Given the description of an element on the screen output the (x, y) to click on. 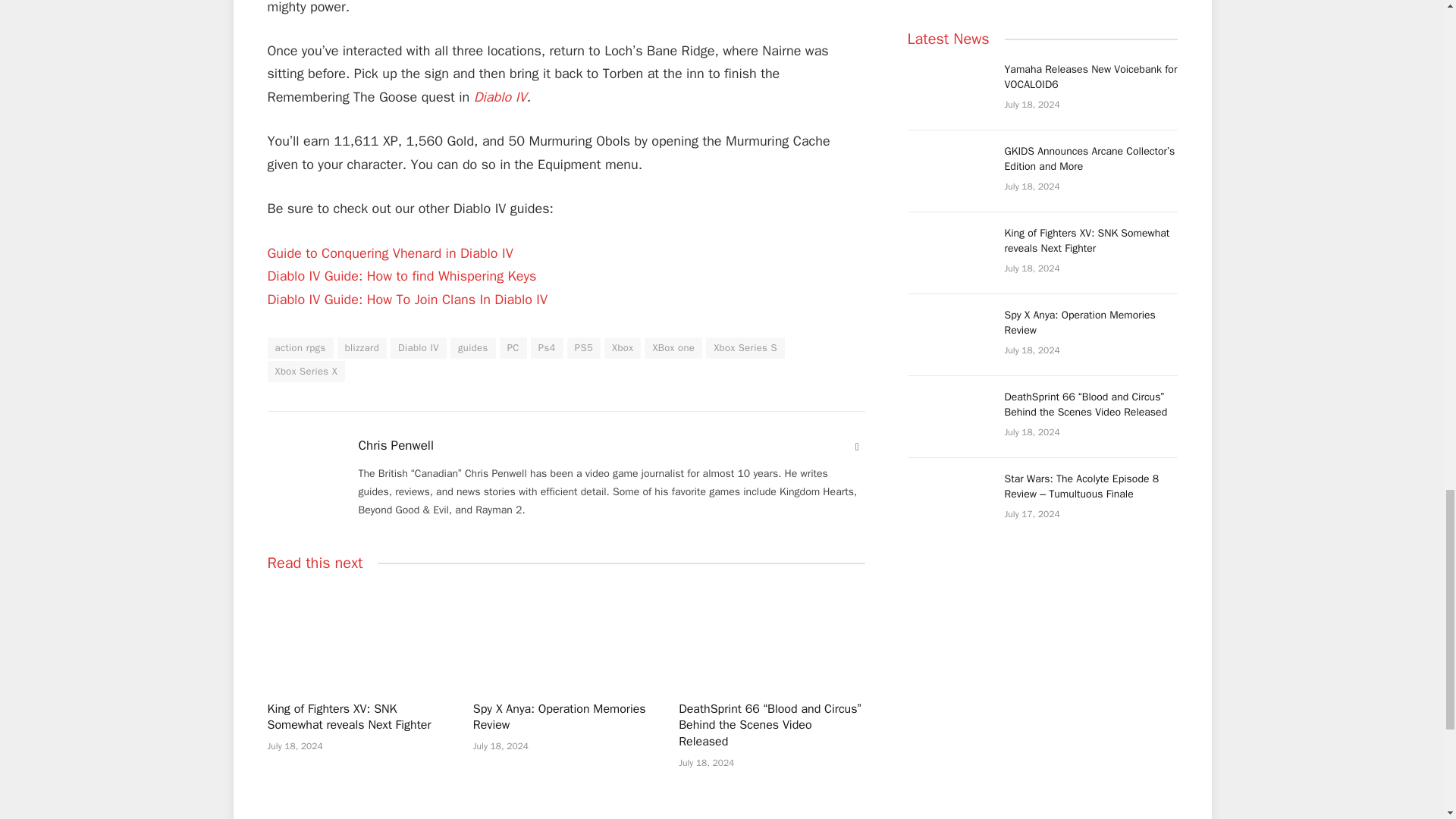
King of Fighters XV: SNK Somewhat reveals Next Fighter (359, 636)
Website (856, 447)
Spy X Anya: Operation Memories Review (566, 636)
Posts by Chris Penwell (395, 445)
